Given the description of an element on the screen output the (x, y) to click on. 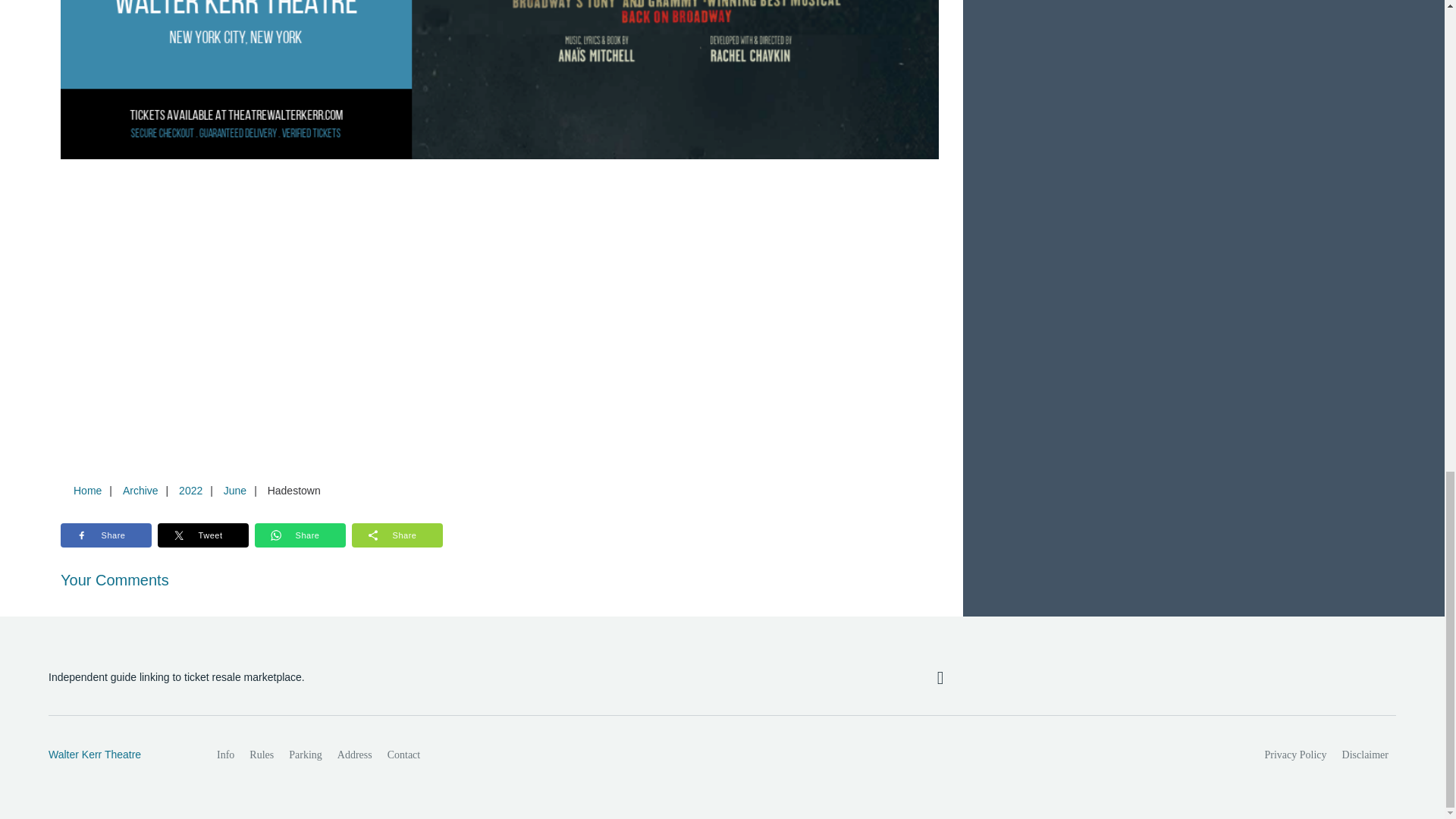
Disclaimer (1365, 755)
Info (225, 755)
Contact (404, 755)
Home (87, 490)
Address (355, 755)
Archive (140, 490)
Privacy Policy (1296, 755)
Rules (261, 755)
Walter Kerr Theatre (116, 754)
2022 (190, 490)
June (234, 490)
Parking (305, 755)
